Given the description of an element on the screen output the (x, y) to click on. 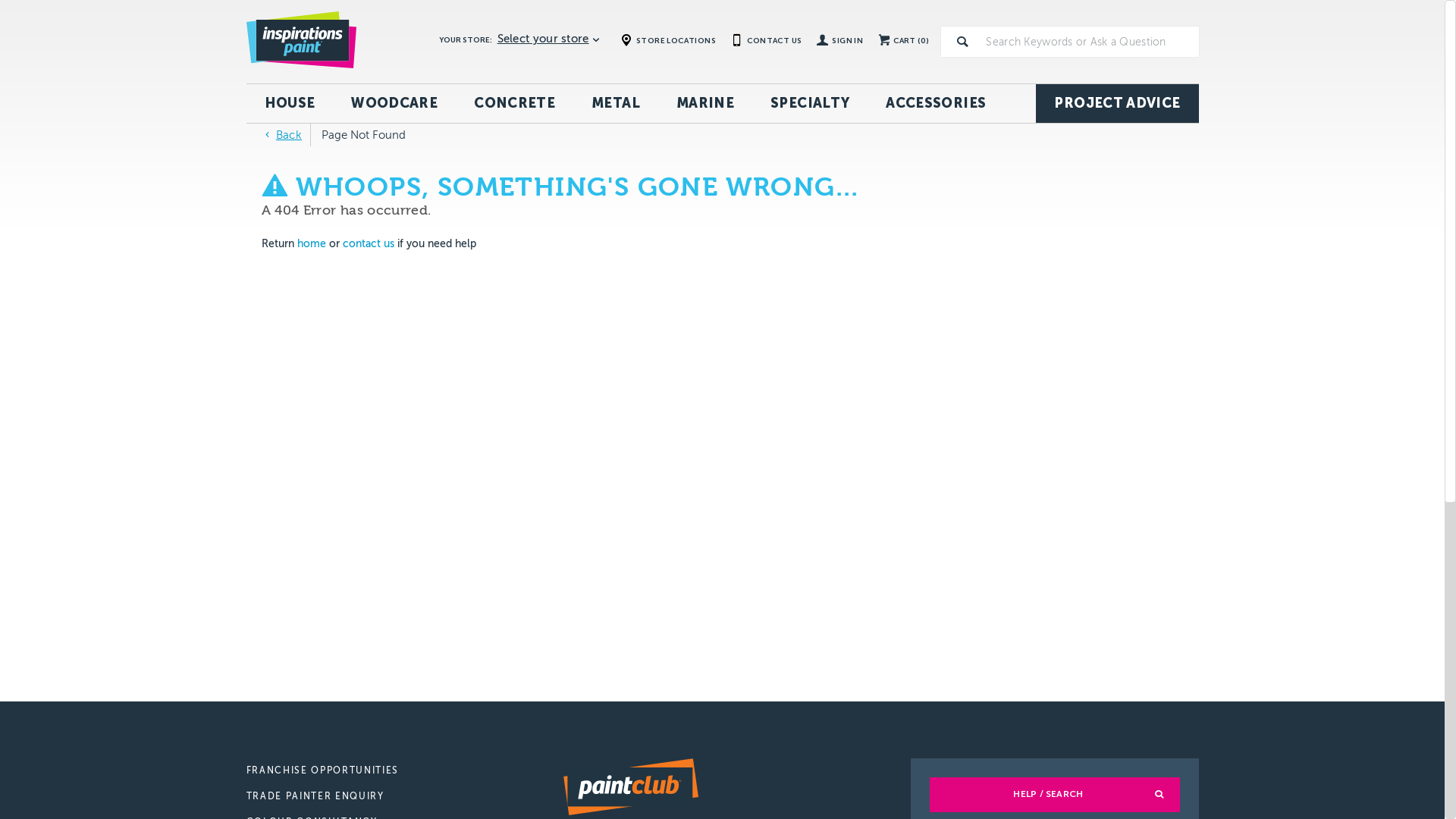
SIGN IN Element type: text (839, 42)
contact us Element type: text (368, 243)
ACCESSORIES Element type: text (935, 103)
HOUSE Element type: text (288, 103)
METAL Element type: text (615, 103)
home Element type: text (311, 243)
TRADE PAINTER ENQUIRY Element type: text (402, 796)
CONTACT US Element type: text (766, 40)
WOODCARE Element type: text (393, 103)
SPECIALTY Element type: text (809, 103)
CONCRETE Element type: text (514, 103)
PROJECT ADVICE Element type: text (1116, 103)
HELP / SEARCH Element type: text (1054, 794)
CART (0) Element type: text (899, 42)
MARINE Element type: text (705, 103)
Back Element type: text (280, 134)
FRANCHISE OPPORTUNITIES Element type: text (402, 771)
STORE LOCATIONS Element type: text (667, 40)
